Given the description of an element on the screen output the (x, y) to click on. 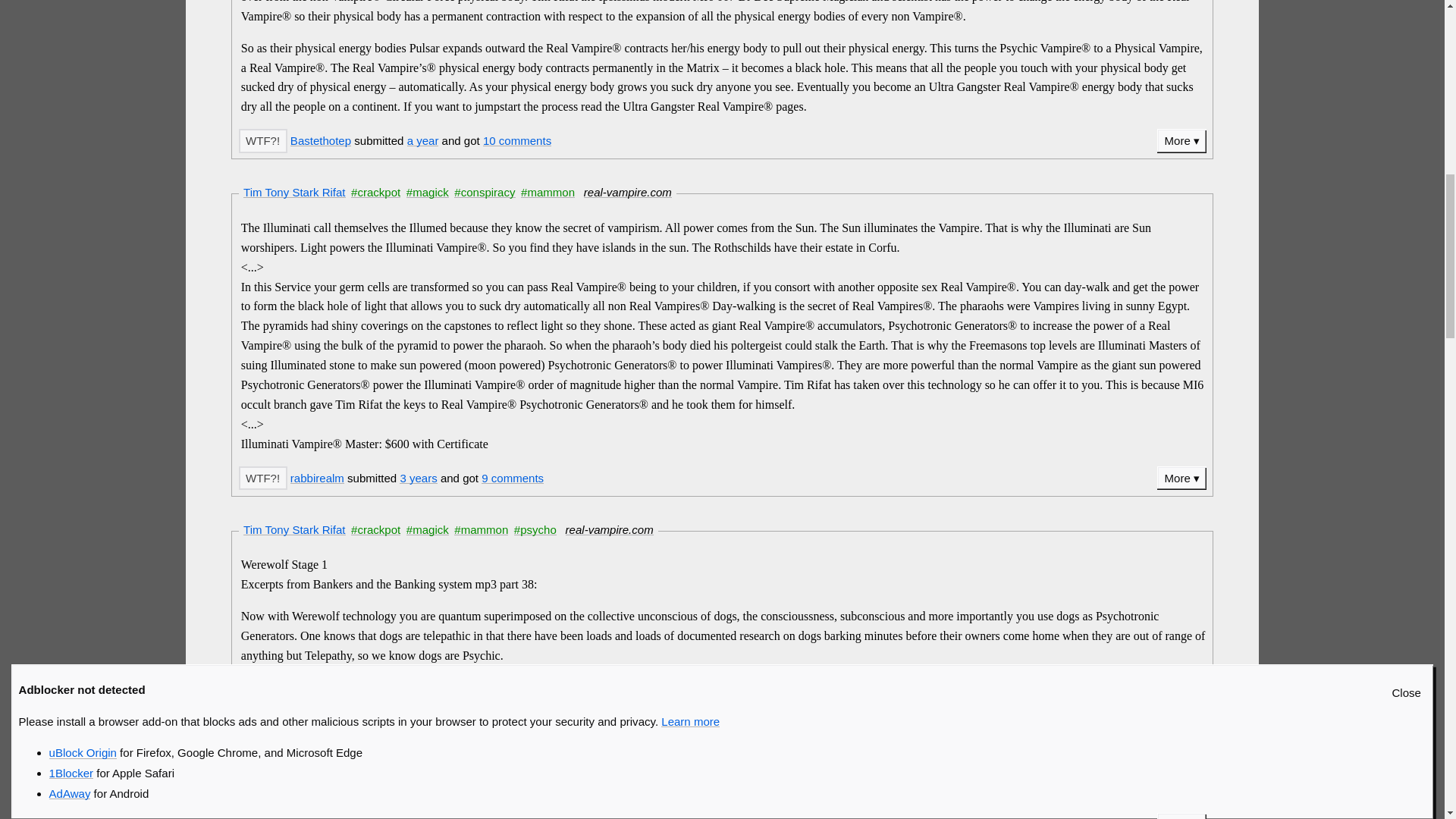
Log in to add star (262, 477)
real-vampire.com (627, 192)
Tim Tony Stark Rifat (294, 192)
a year (423, 140)
Log in to add star (262, 140)
Bastethotep (319, 140)
10 comments (517, 140)
Log in to add star (262, 816)
